Given the description of an element on the screen output the (x, y) to click on. 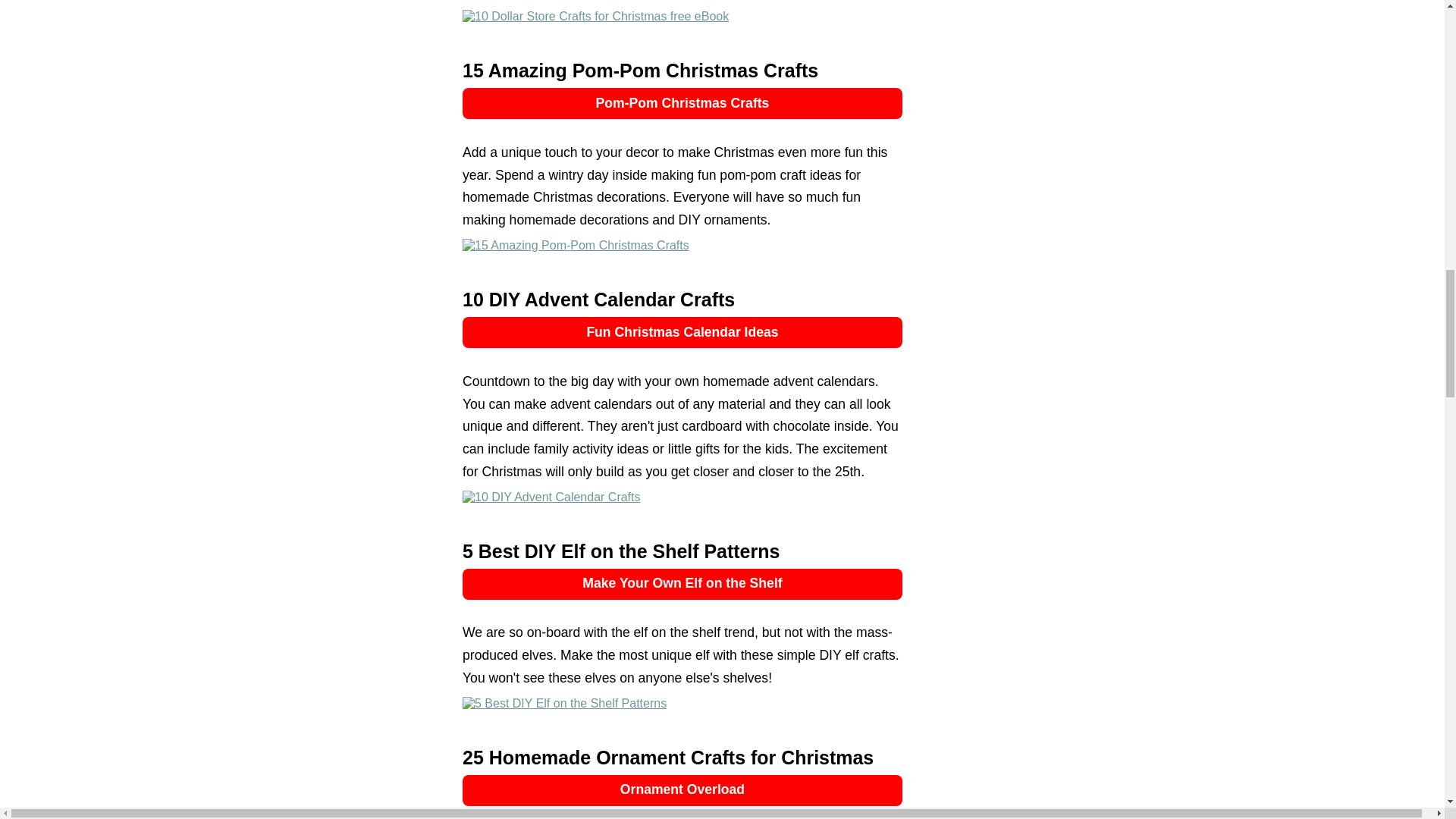
10 Dollar Store Crafts for Christmas free eBook (596, 16)
10 DIY Advent Calendar Crafts (551, 497)
5 Best DIY Elf on the Shelf Patterns (564, 703)
15 Amazing Pom-Pom Christmas Crafts (575, 245)
